Given the description of an element on the screen output the (x, y) to click on. 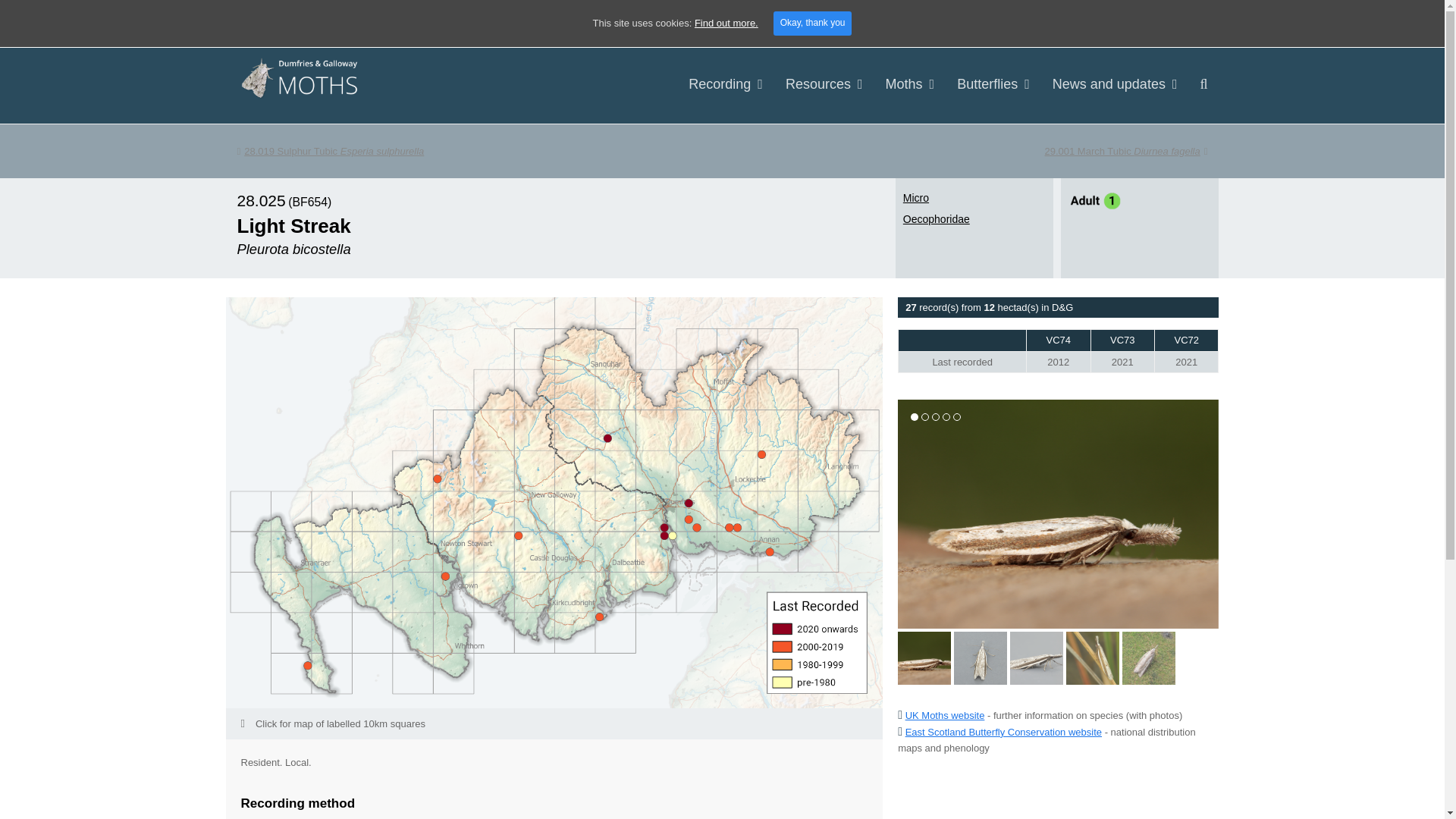
Click for map of labelled 10km squares (554, 723)
Resources (824, 85)
Recording (725, 85)
Oecophoridae (935, 218)
Adult: 1 (1095, 204)
News and updates (1115, 85)
Moths (910, 85)
Butterflies (329, 151)
Micro (1126, 151)
